Given the description of an element on the screen output the (x, y) to click on. 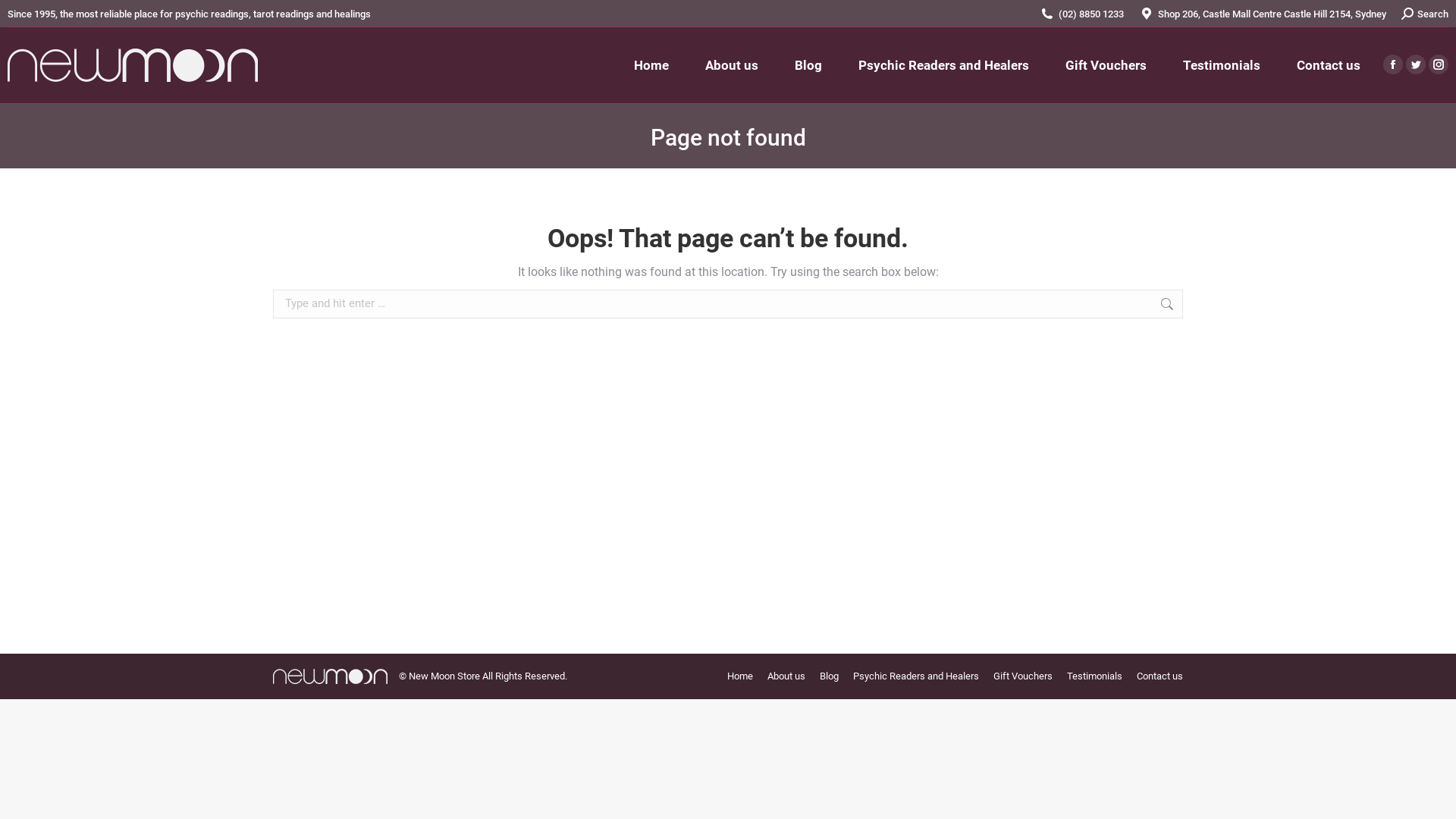
Contact us Element type: text (1159, 676)
Facebook page opens in new window Element type: text (1392, 64)
About us Element type: text (786, 676)
Blog Element type: text (808, 64)
Go! Element type: text (1206, 306)
Testimonials Element type: text (1221, 64)
Gift Vouchers Element type: text (1022, 676)
Contact us Element type: text (1328, 64)
(02) 8850 1233 Element type: text (1090, 13)
Twitter page opens in new window Element type: text (1415, 64)
Home Element type: text (651, 64)
About us Element type: text (731, 64)
Blog Element type: text (828, 676)
Gift Vouchers Element type: text (1105, 64)
Search Element type: text (1424, 13)
Go! Element type: text (23, 16)
Instagram page opens in new window Element type: text (1438, 64)
Psychic Readers and Healers Element type: text (943, 64)
Home Element type: text (740, 676)
Psychic Readers and Healers Element type: text (916, 676)
Testimonials Element type: text (1094, 676)
